Given the description of an element on the screen output the (x, y) to click on. 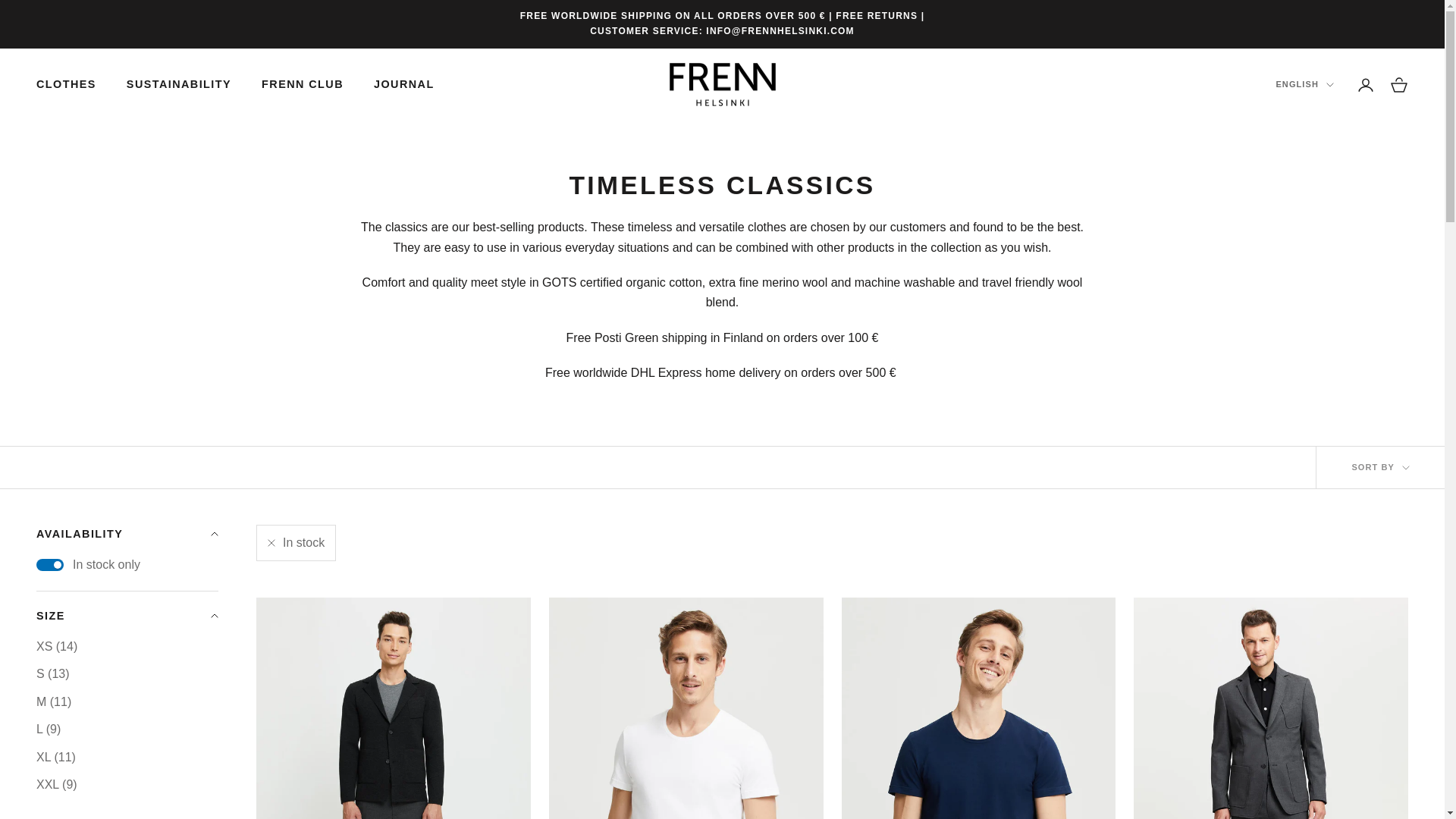
1 (50, 564)
FRENN (721, 85)
ENGLISH (1304, 83)
